Given the description of an element on the screen output the (x, y) to click on. 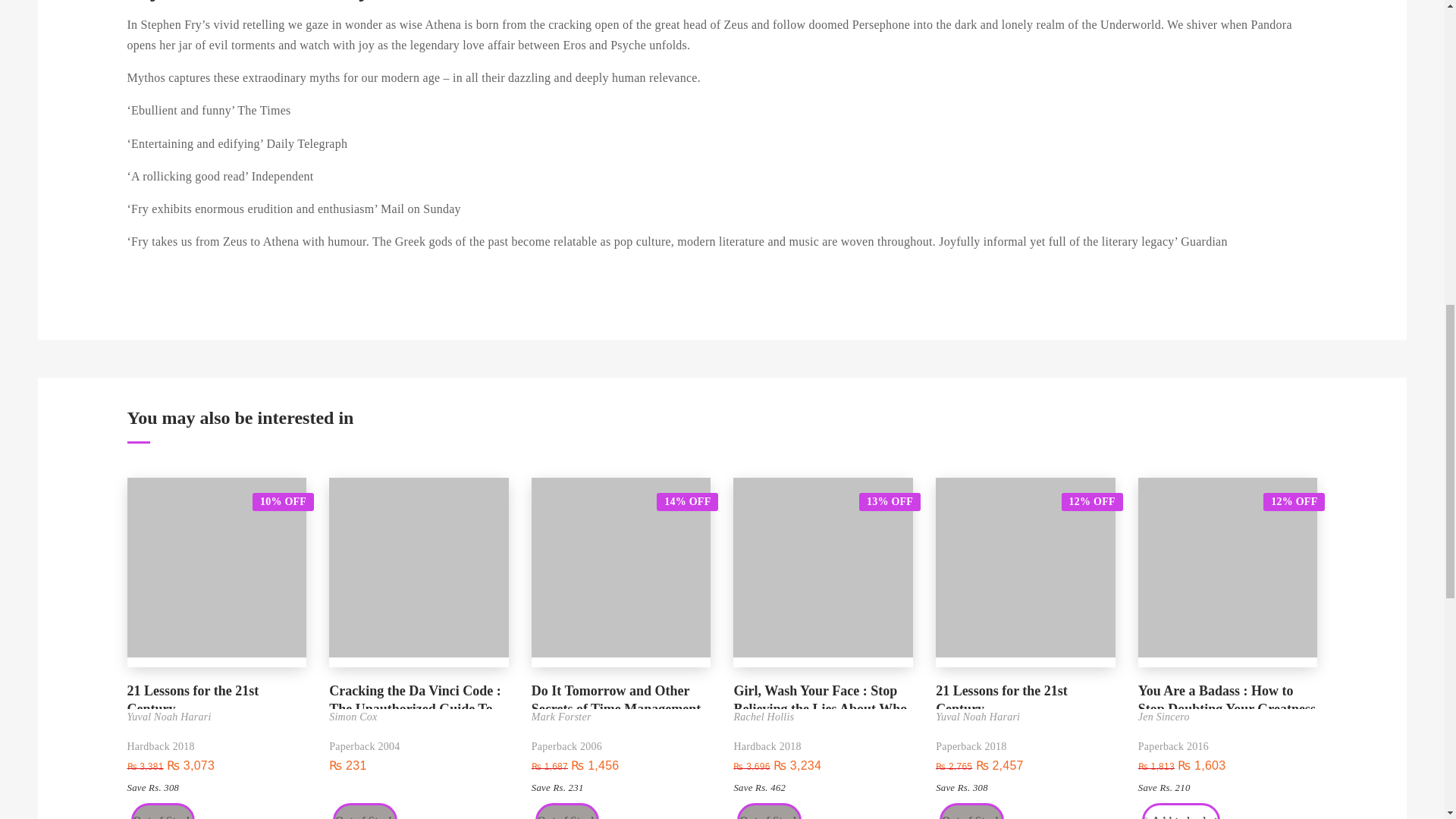
21 Lessons for the 21st Century (1025, 695)
Do It Tomorrow and Other Secrets of Time Management (621, 695)
21 Lessons for the 21st Century (217, 695)
